Given the description of an element on the screen output the (x, y) to click on. 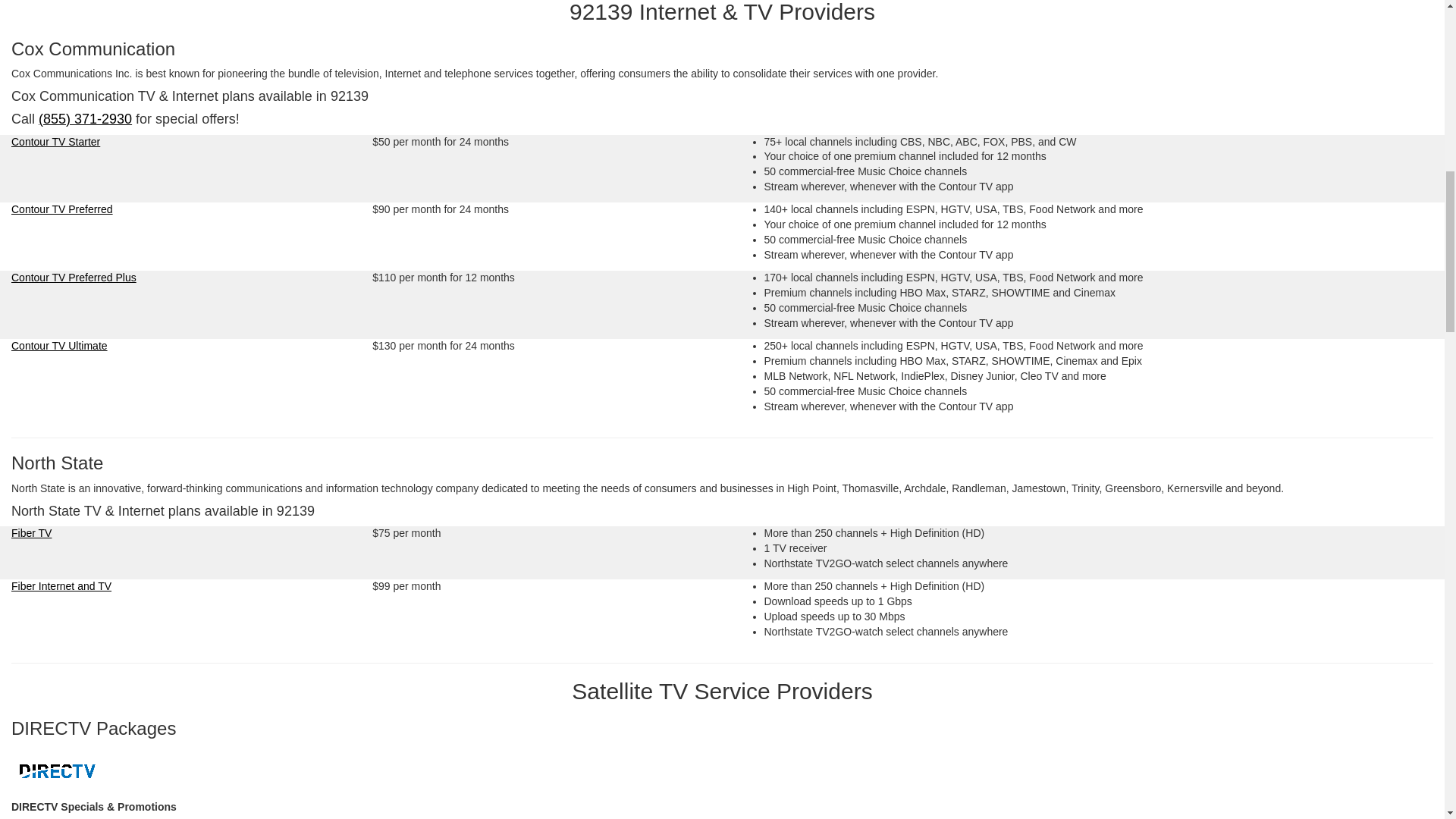
Contour TV Starter (55, 141)
Contour TV Ultimate (59, 345)
Contour TV Preferred (62, 209)
Contour TV Preferred Plus (73, 277)
Fiber Internet and TV (61, 585)
Fiber TV (30, 532)
